Given the description of an element on the screen output the (x, y) to click on. 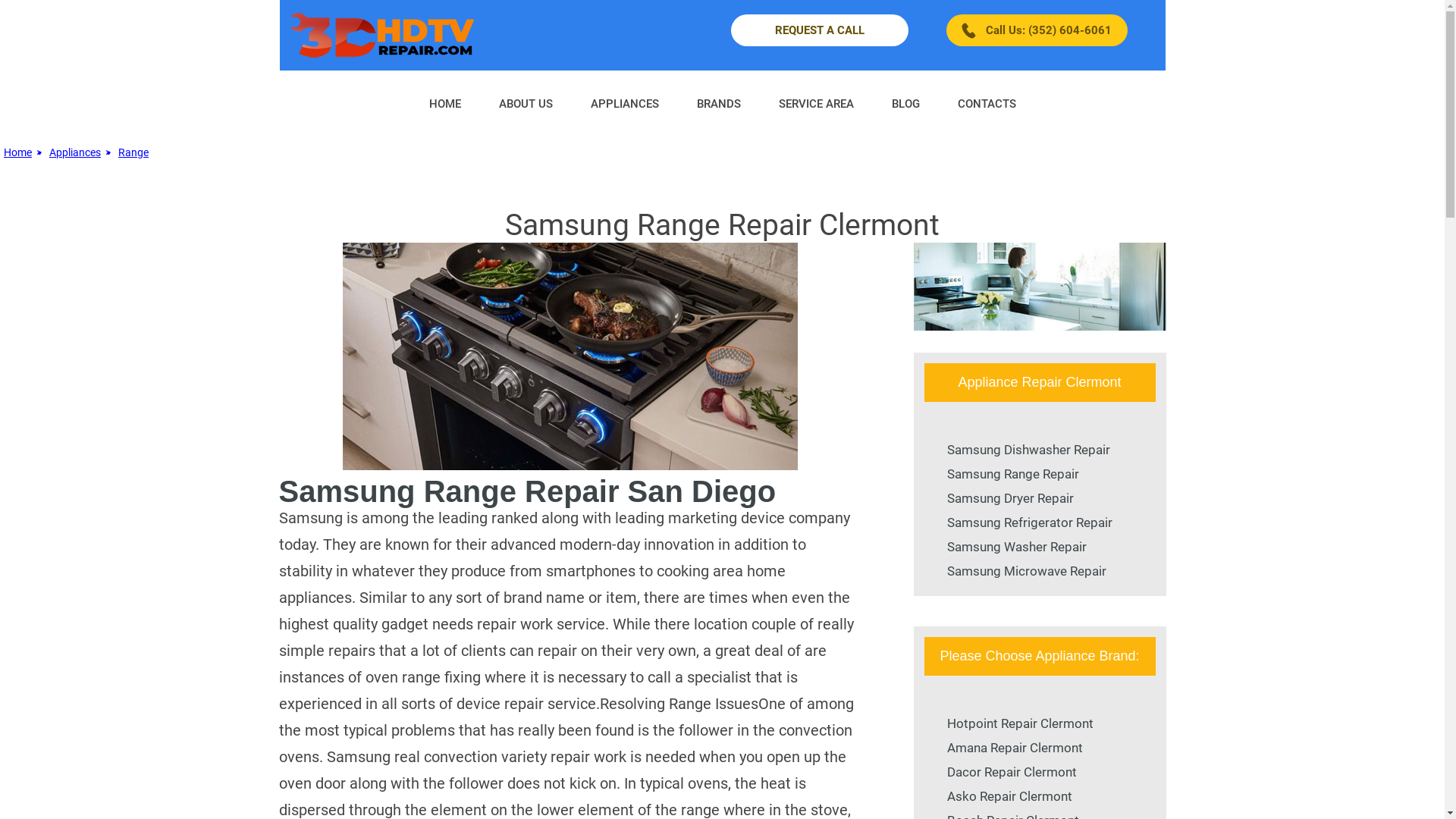
Call Us: (352) 604-6061 Element type: text (1036, 30)
Dacor Repair Clermont Element type: text (1011, 771)
Asko Repair Clermont Element type: text (1008, 795)
Samsung Washer Repair Element type: text (1015, 546)
SERVICE AREA Element type: text (815, 102)
REQUEST A CALL Element type: text (819, 30)
Home Element type: text (17, 152)
BLOG Element type: text (905, 102)
Range Element type: text (133, 152)
CONTACTS Element type: text (986, 102)
Appliances Element type: text (74, 152)
APPLIANCES Element type: text (624, 102)
Amana Repair Clermont Element type: text (1014, 747)
Hotpoint Repair Clermont Element type: text (1019, 723)
BRANDS Element type: text (718, 102)
HOME Element type: text (444, 102)
Samsung Dryer Repair Element type: text (1009, 497)
Samsung Range Repair Element type: text (1012, 473)
Samsung Dishwasher Repair Element type: text (1027, 449)
ABOUT US Element type: text (525, 102)
Samsung Microwave Repair Element type: text (1025, 570)
Samsung Refrigerator Repair Element type: text (1028, 522)
